Given the description of an element on the screen output the (x, y) to click on. 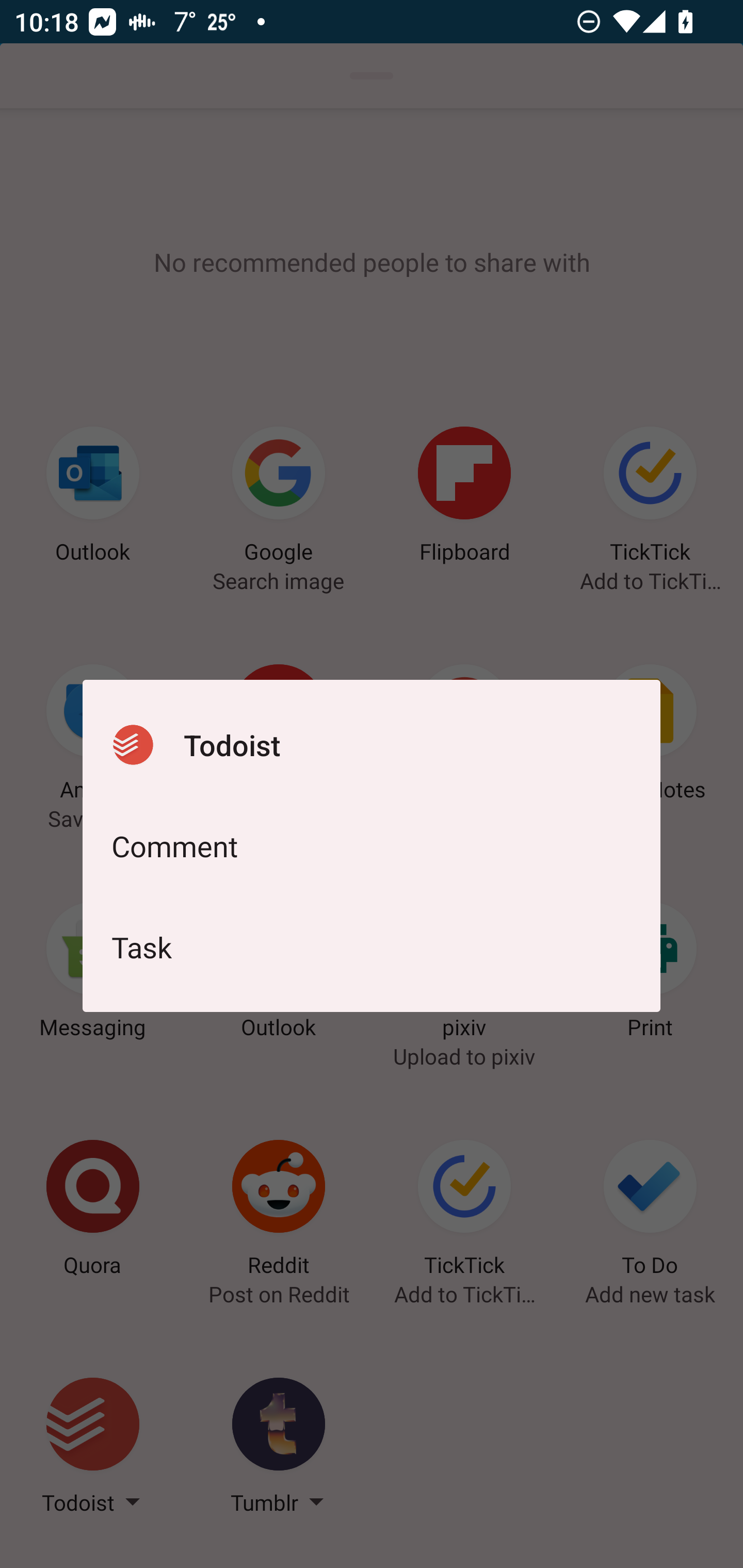
Comment (371, 845)
Task (371, 946)
